Given the description of an element on the screen output the (x, y) to click on. 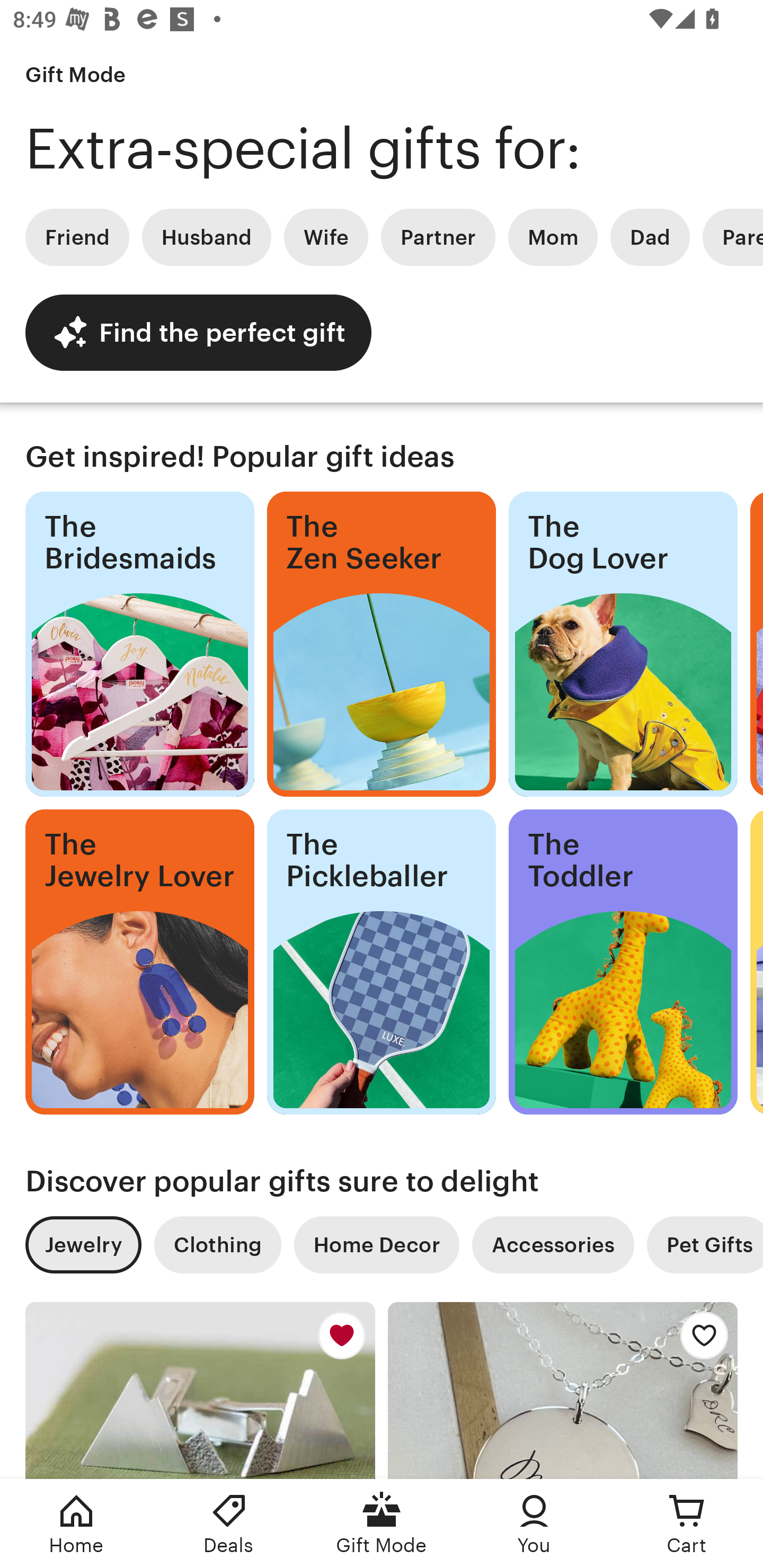
Friend (76, 237)
Husband (206, 237)
Wife (325, 237)
Partner (437, 237)
Mom (552, 237)
Dad (649, 237)
Find the perfect gift (198, 332)
The Bridesmaids (139, 644)
The Zen Seeker (381, 644)
The Dog Lover (622, 644)
The Jewelry Lover (139, 961)
The Pickleballer (381, 961)
The Toddler (622, 961)
Jewelry (83, 1244)
Clothing (217, 1244)
Home Decor (376, 1244)
Accessories (553, 1244)
Pet Gifts (705, 1244)
Home (76, 1523)
Deals (228, 1523)
You (533, 1523)
Cart (686, 1523)
